Given the description of an element on the screen output the (x, y) to click on. 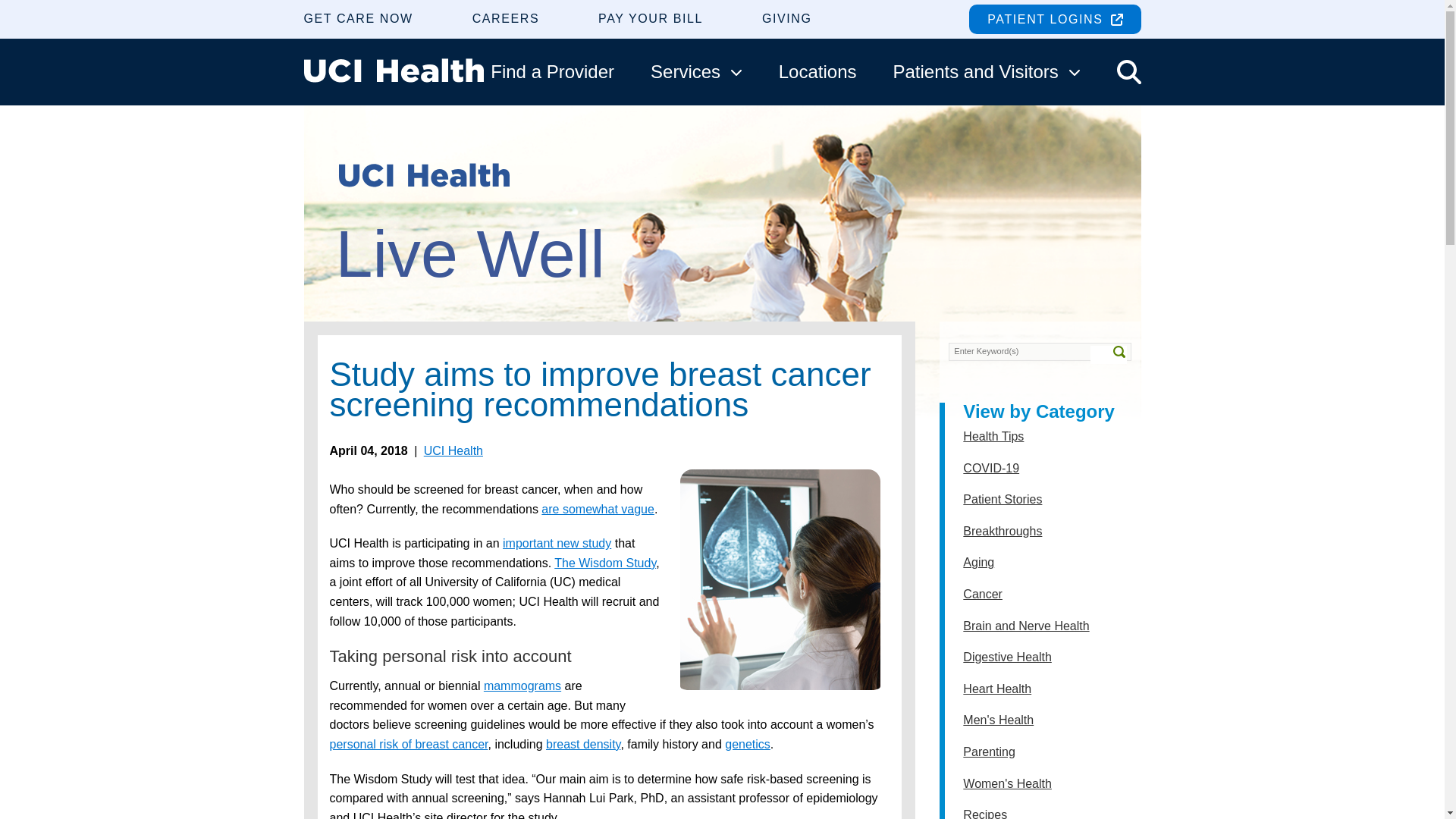
Patients and Visitors (986, 72)
Find a Provider (552, 71)
Search (1108, 354)
PAY YOUR BILL (650, 19)
GET CARE NOW (357, 19)
Locations (817, 71)
Services (696, 72)
GIVING (786, 19)
CAREERS (505, 19)
PATIENT LOGINS (1054, 18)
